Given the description of an element on the screen output the (x, y) to click on. 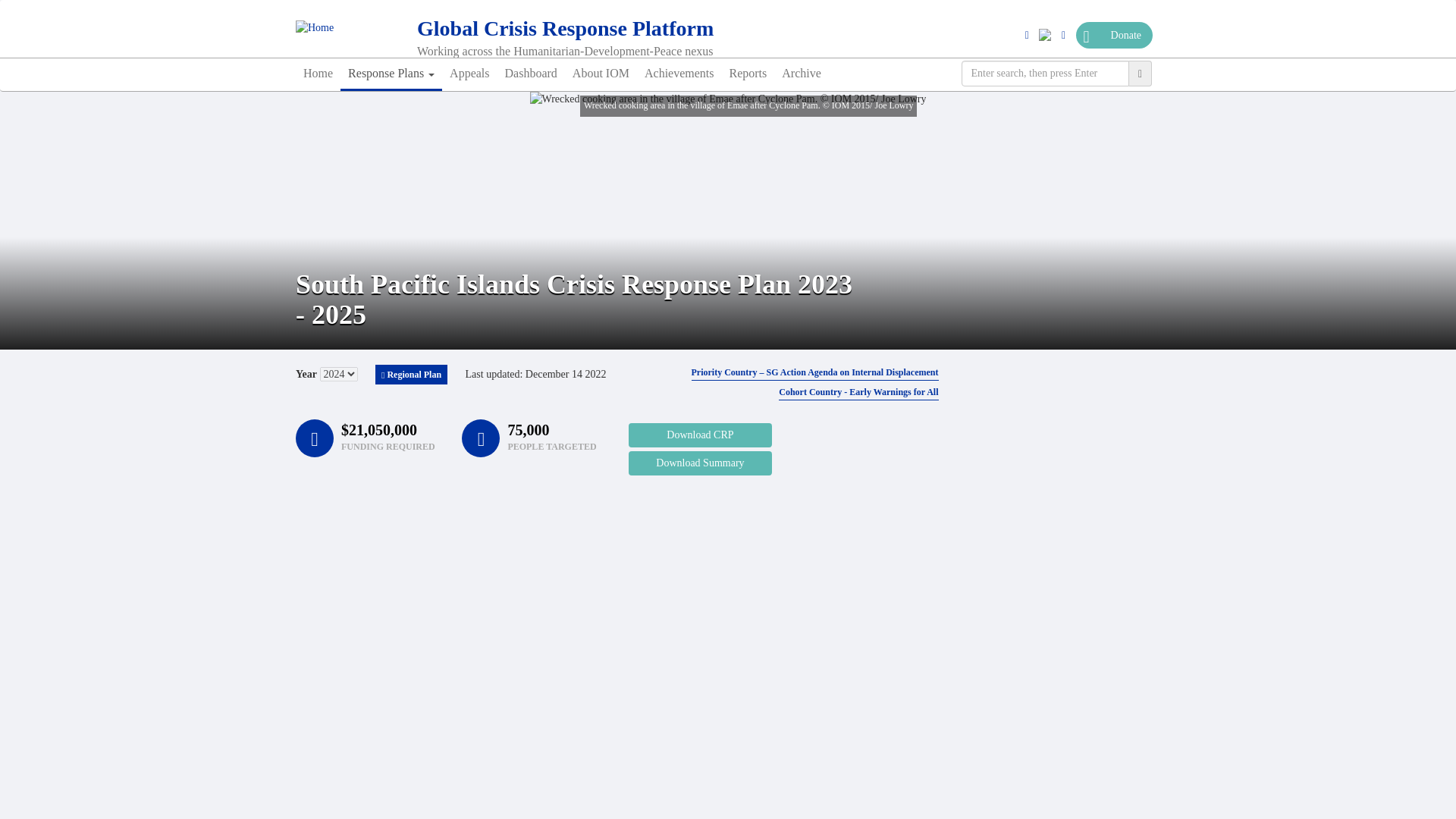
Response Plans (391, 73)
Home (317, 73)
Global Crisis Response Platform (603, 28)
Home (603, 28)
IOM - UN Migration  (348, 28)
Donate (1114, 35)
